Given the description of an element on the screen output the (x, y) to click on. 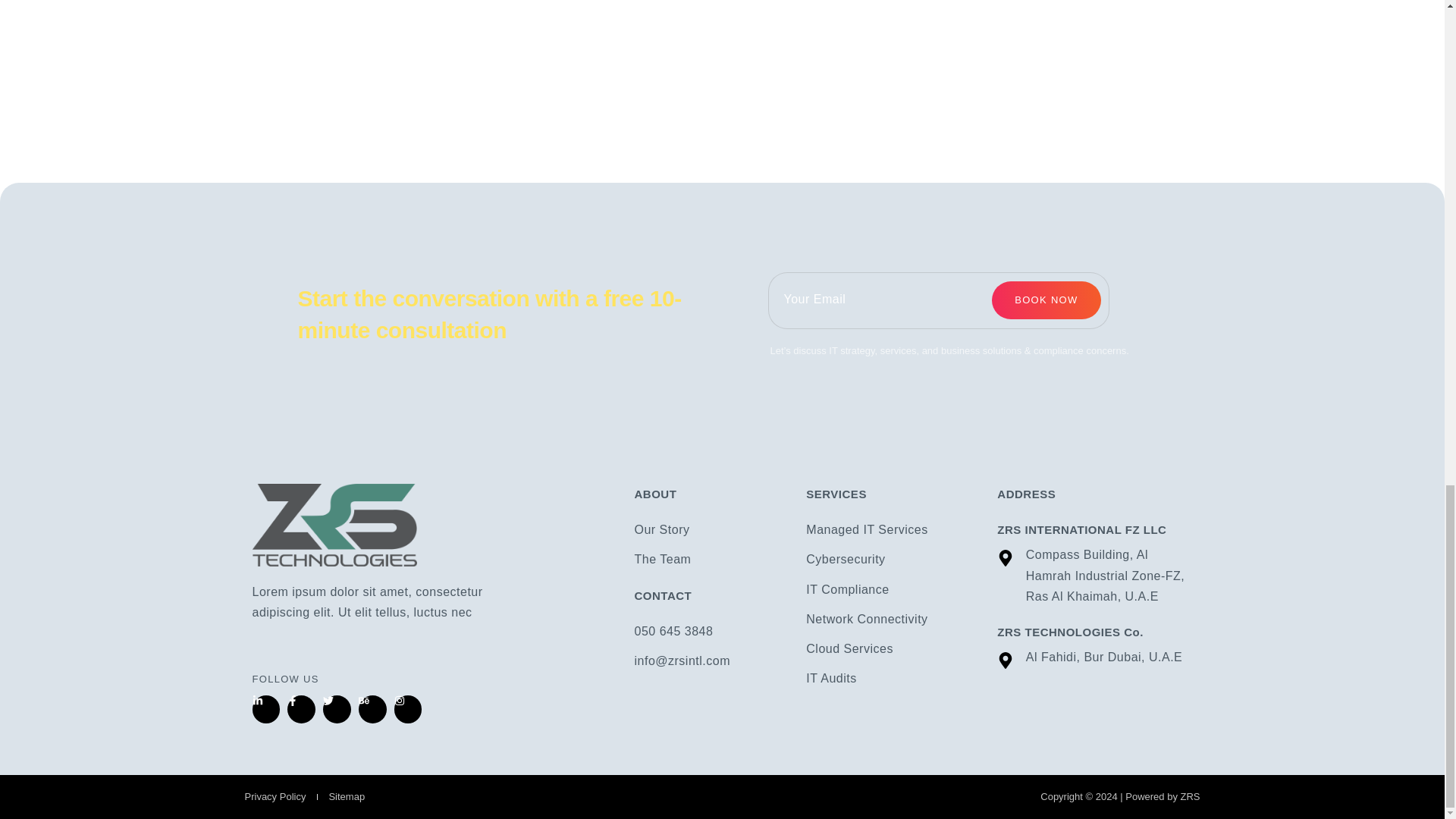
zrs international (721, 49)
BOOK NOW (1045, 300)
Behance (371, 708)
Managed IT Services (893, 529)
Facebook-f (300, 708)
Linkedin-in (265, 708)
Cloud Services (893, 648)
Cybersecurity (893, 558)
050 645 3848 (711, 630)
IT Audits (893, 678)
Instagram (408, 708)
The Team (711, 558)
Twitter (336, 708)
Network Connectivity (893, 619)
